Given the description of an element on the screen output the (x, y) to click on. 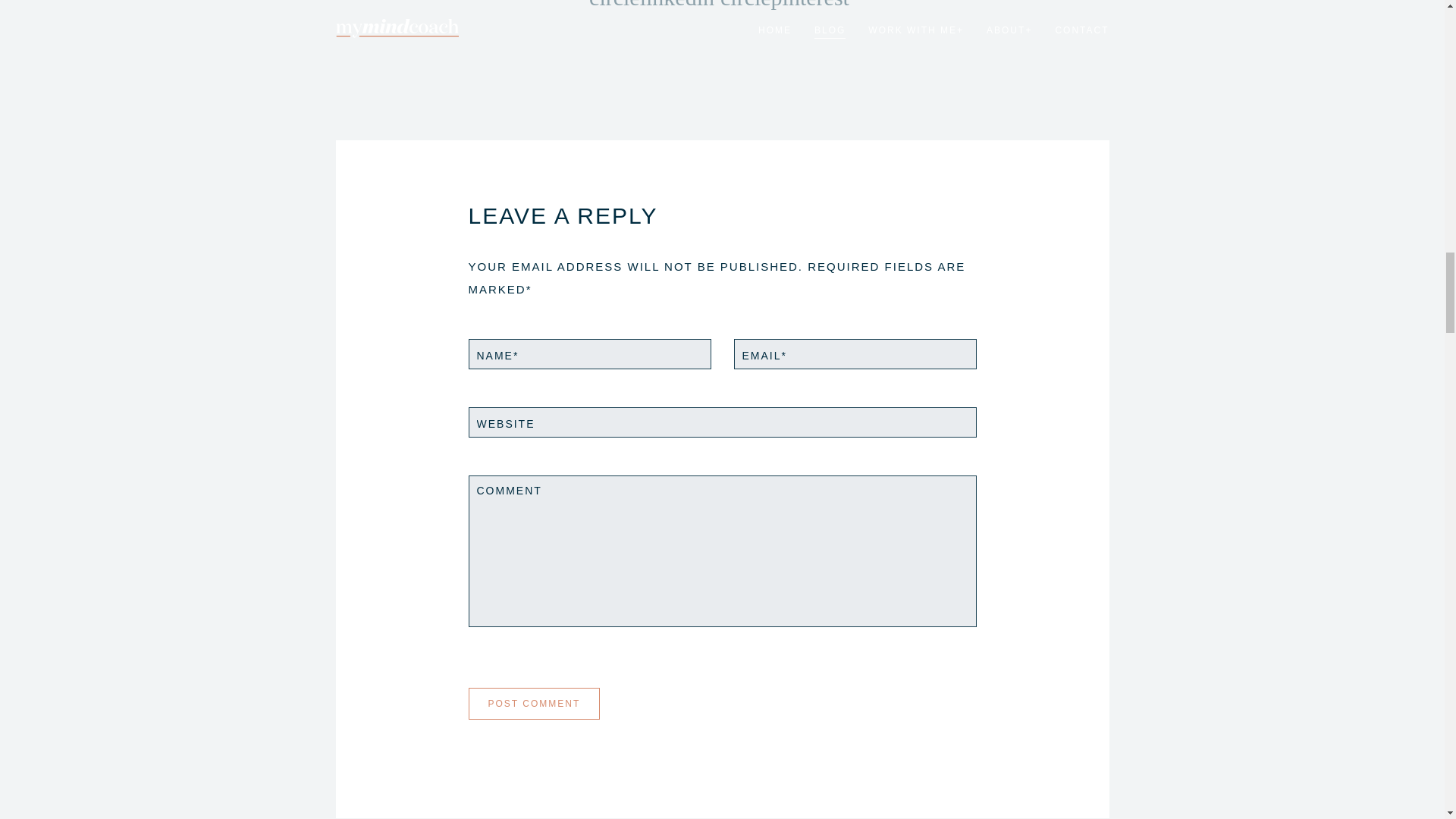
circlepinterest (784, 4)
Post Comment (533, 703)
Post Comment (533, 703)
circlelinkedin (651, 4)
